Given the description of an element on the screen output the (x, y) to click on. 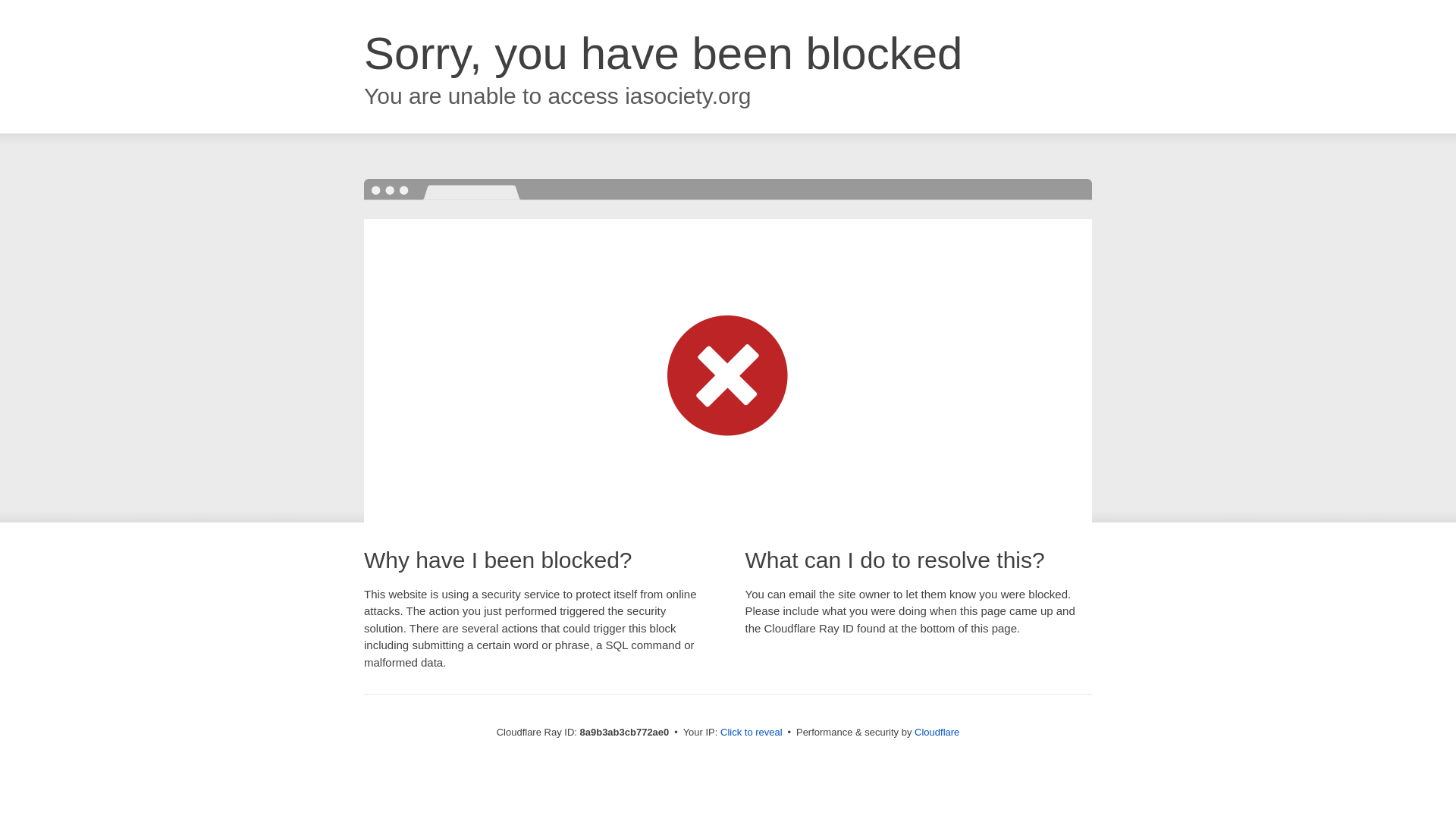
Click to reveal (751, 732)
Cloudflare (936, 731)
